Given the description of an element on the screen output the (x, y) to click on. 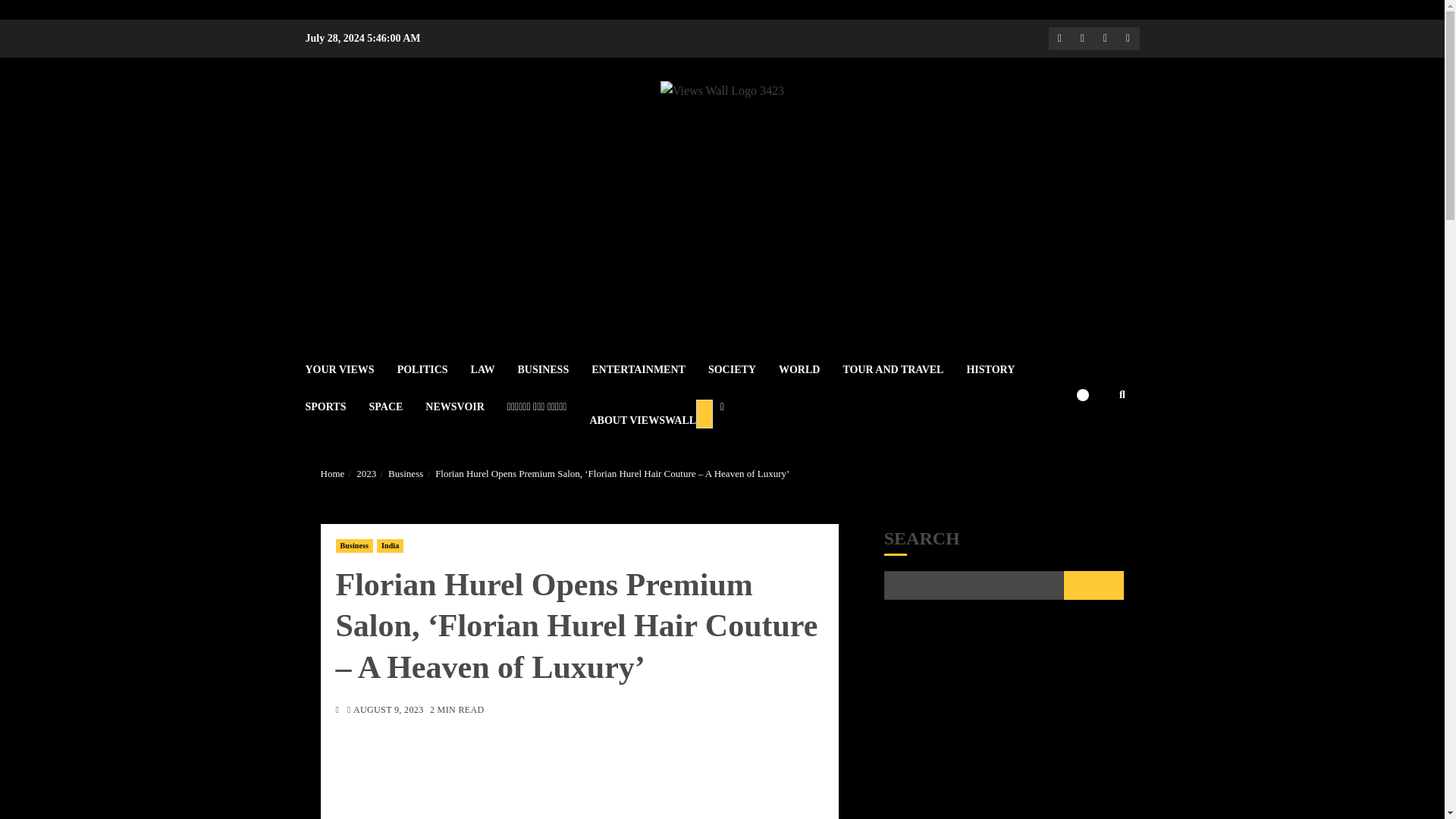
SPORTS (336, 406)
BUSINESS (553, 369)
Search (1092, 440)
Business (353, 545)
YOUR VIEWS (350, 369)
Business (405, 473)
Instagram (1104, 38)
India (390, 545)
Home (331, 473)
POLITICS (433, 369)
LAW (494, 369)
SOCIETY (742, 369)
HISTORY (1001, 369)
TOUR AND TRAVEL (904, 369)
ABOUT VIEWSWALL (656, 413)
